Given the description of an element on the screen output the (x, y) to click on. 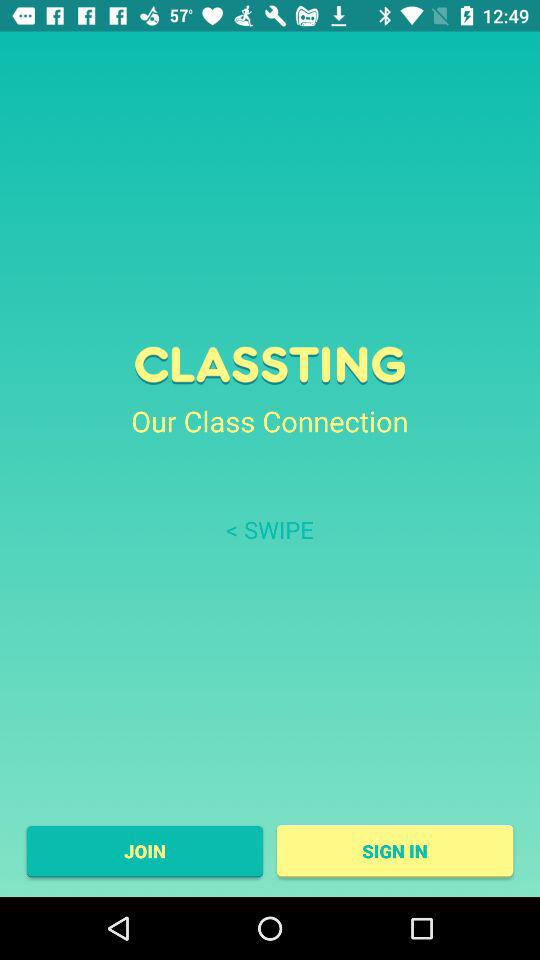
choose the join at the bottom left corner (144, 851)
